Given the description of an element on the screen output the (x, y) to click on. 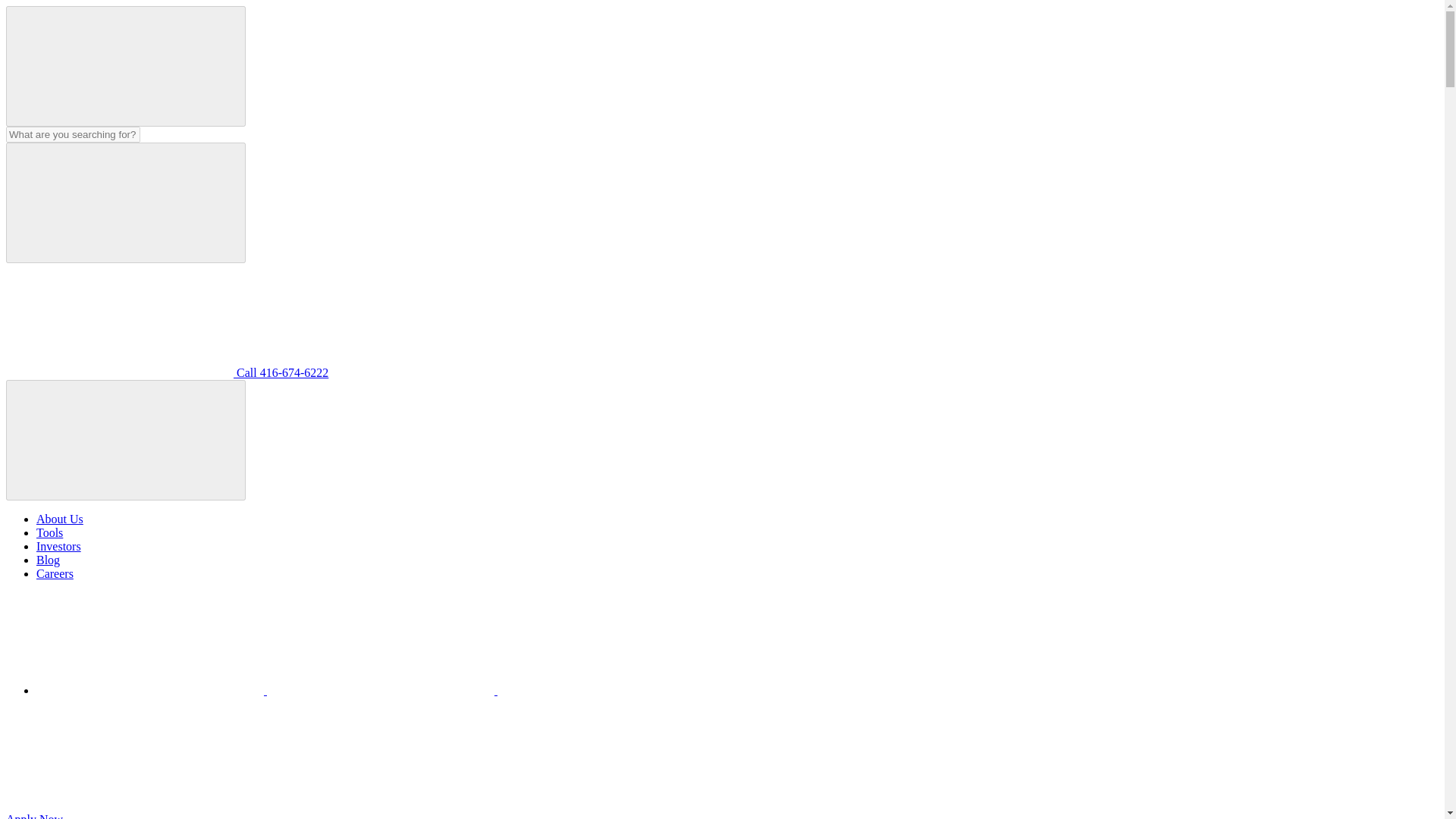
About Us (59, 518)
Careers (55, 573)
Apply Now (149, 816)
Call 416-674-6222 (167, 372)
Investors (58, 545)
Blog (47, 559)
Tools (49, 532)
